Given the description of an element on the screen output the (x, y) to click on. 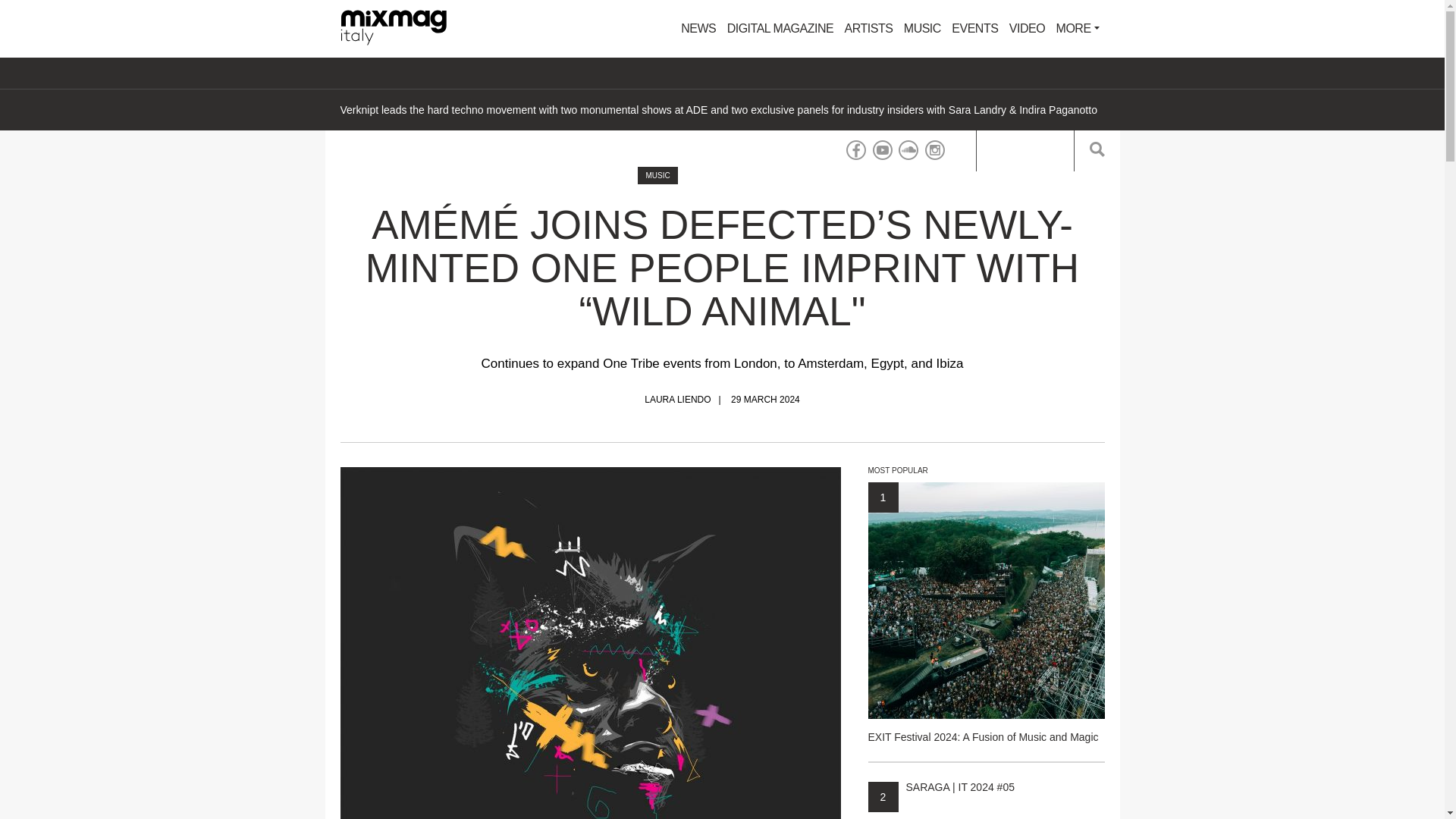
DIGITAL MAGAZINE (780, 28)
ARTISTS (869, 28)
EVENTS (974, 28)
MORE (1078, 28)
